Given the description of an element on the screen output the (x, y) to click on. 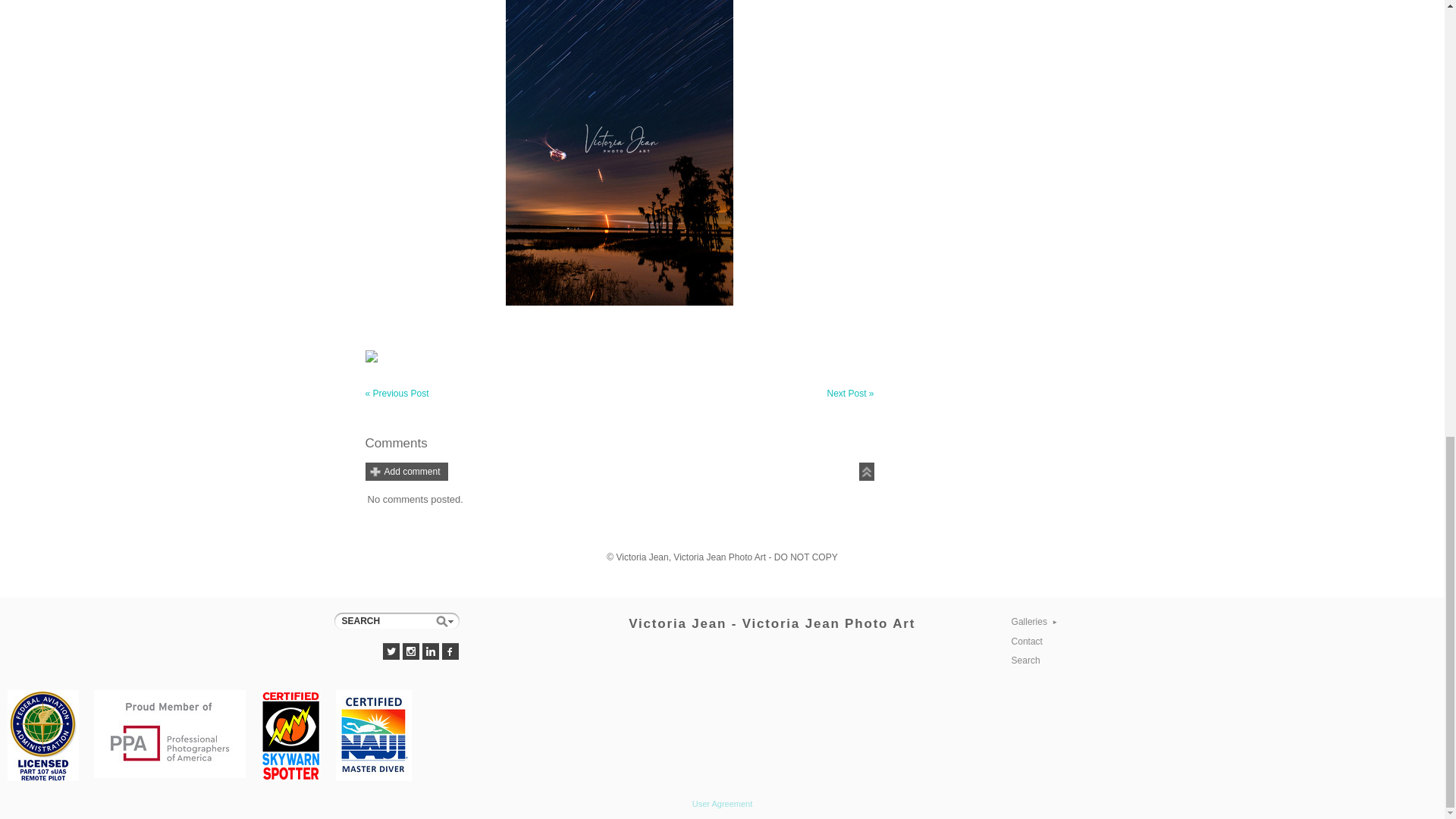
SEARCH (395, 620)
Victoria Jean - Victoria Jean Photo Art (772, 623)
SEARCH (395, 620)
